Given the description of an element on the screen output the (x, y) to click on. 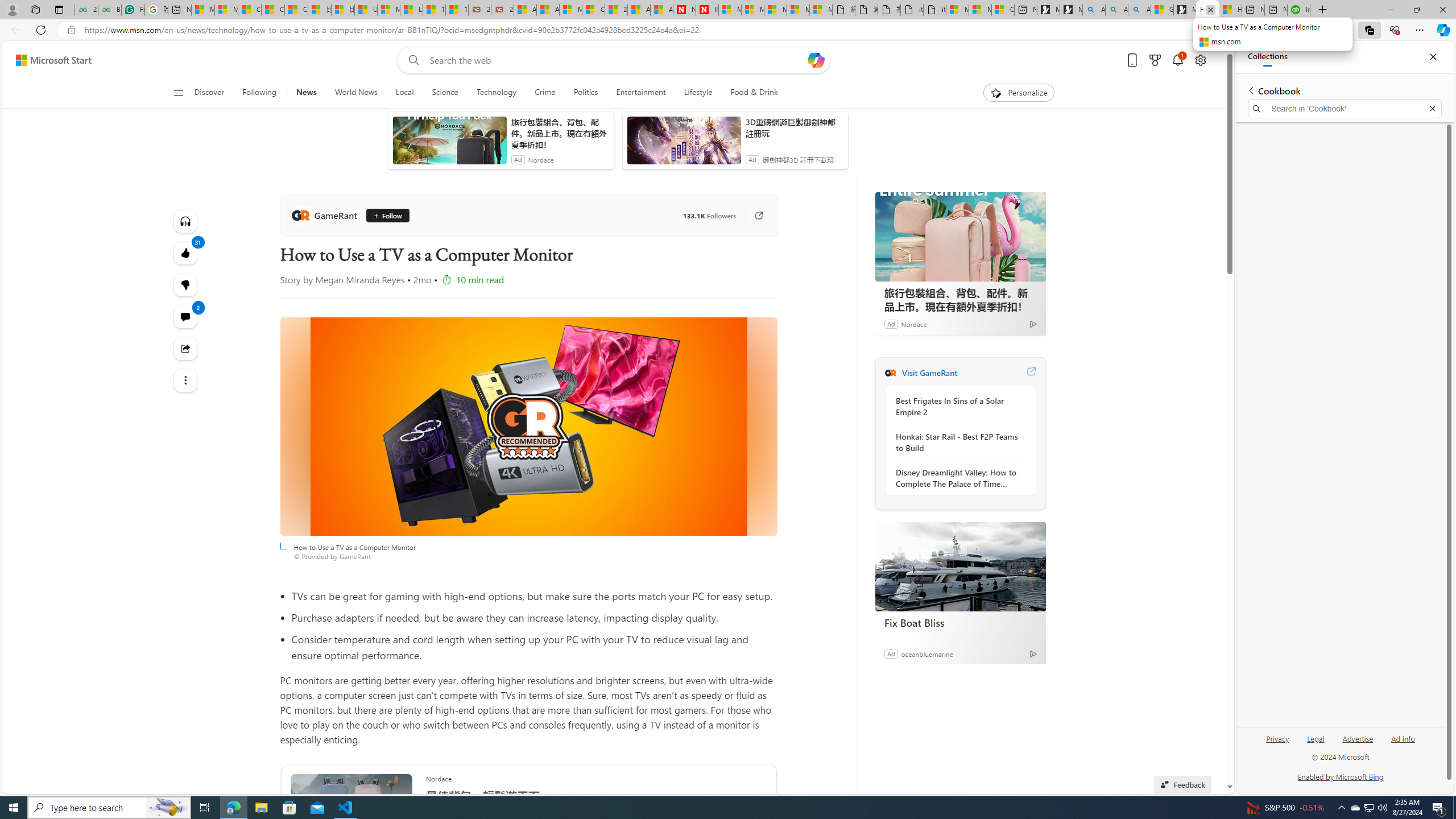
20 Ways to Boost Your Protein Intake at Every Meal (615, 9)
Entertainment (640, 92)
Local (403, 92)
GameRant (889, 372)
Free AI Writing Assistance for Students | Grammarly (132, 9)
Illness news & latest pictures from Newsweek.com (707, 9)
